Given the description of an element on the screen output the (x, y) to click on. 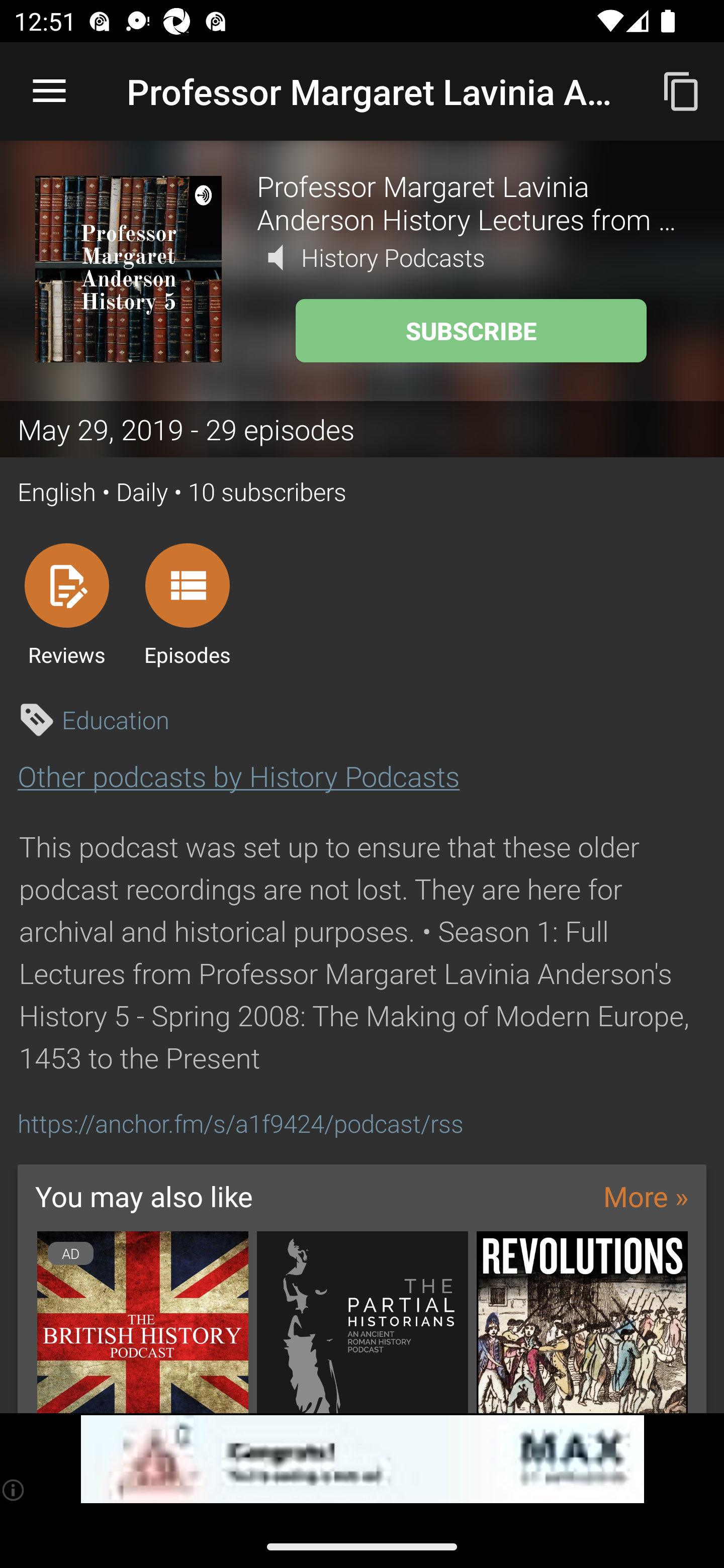
Open navigation sidebar (49, 91)
Copy feed url to clipboard (681, 90)
SUBSCRIBE (470, 330)
Reviews (66, 604)
Episodes (187, 604)
Other podcasts by History Podcasts (238, 775)
More » (645, 1196)
AD (142, 1321)
app-monetization (362, 1459)
(i) (14, 1489)
